Given the description of an element on the screen output the (x, y) to click on. 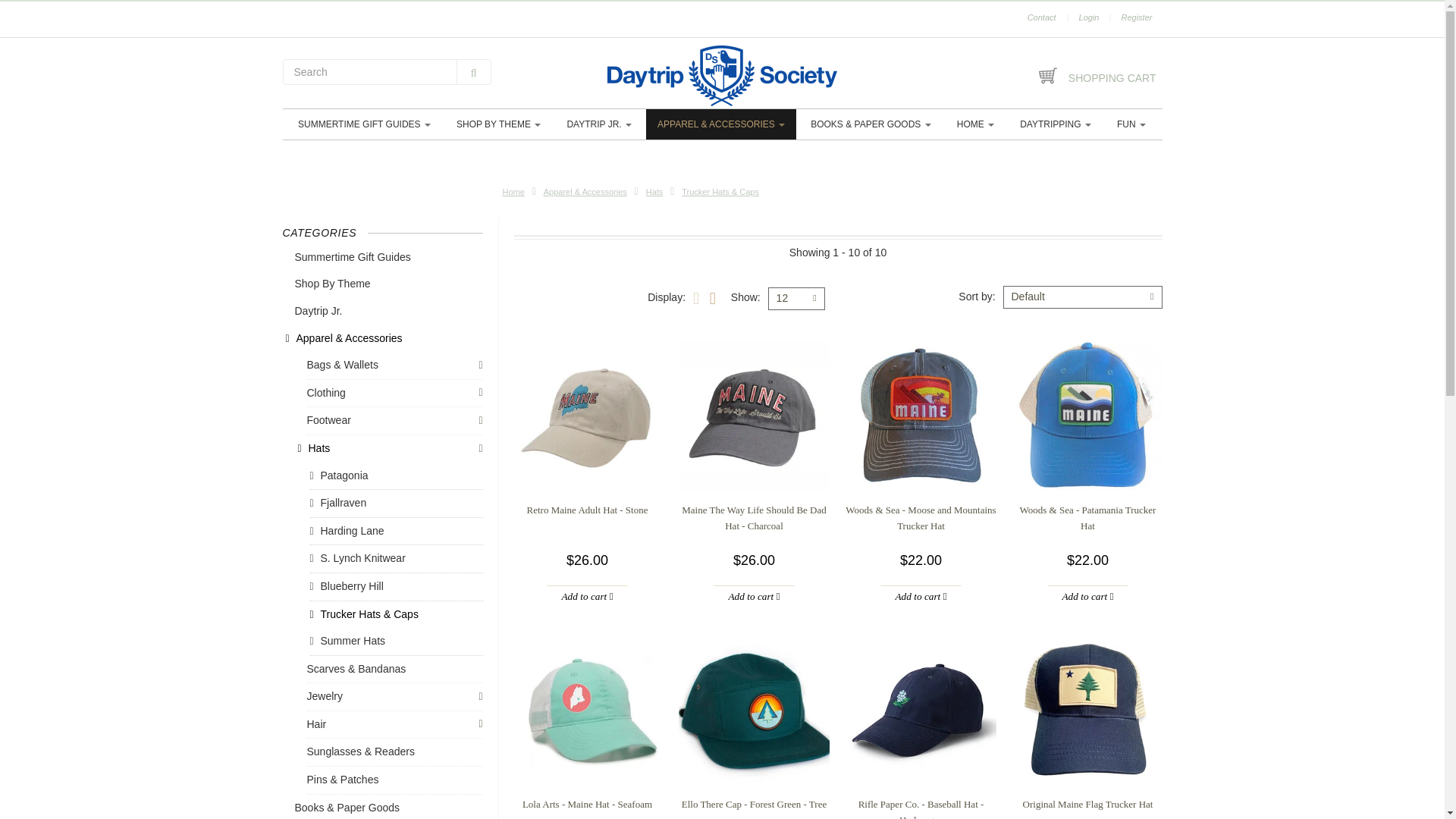
Daytrip Society (722, 75)
SHOP BY THEME (499, 123)
Summertime Gift Guides (364, 123)
SHOPPING CART (1097, 75)
Search (474, 71)
Register (1135, 17)
SUMMERTIME GIFT GUIDES (364, 123)
Contact (1042, 17)
service (1042, 17)
